Given the description of an element on the screen output the (x, y) to click on. 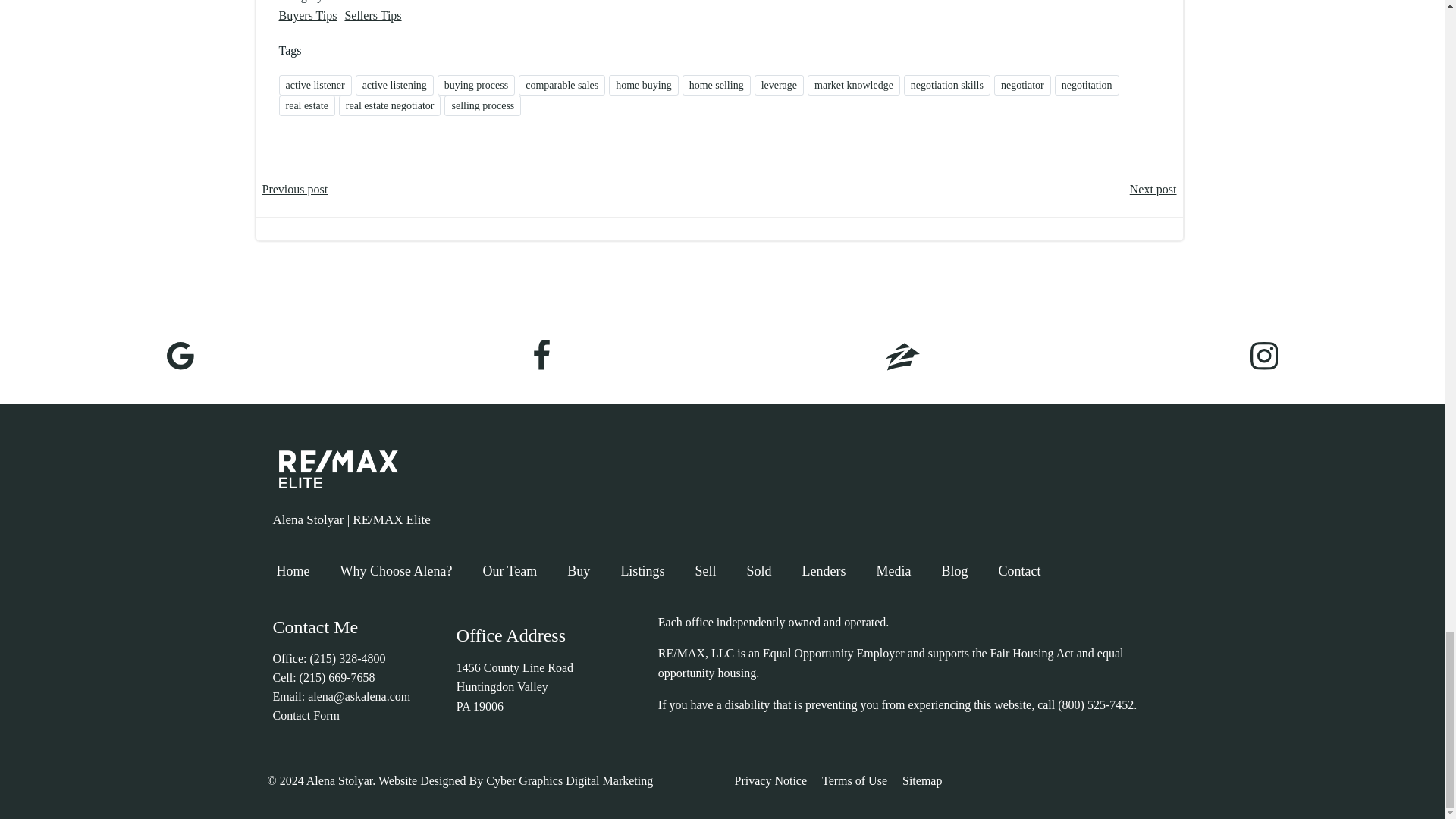
negotitation (1086, 85)
real estate Tag (306, 105)
home buying Tag (643, 85)
selling process Tag (482, 105)
active listening (394, 85)
negotiator Tag (1022, 85)
real estate (306, 105)
buying process (476, 85)
active listening Tag (394, 85)
market knowledge Tag (853, 85)
